Given the description of an element on the screen output the (x, y) to click on. 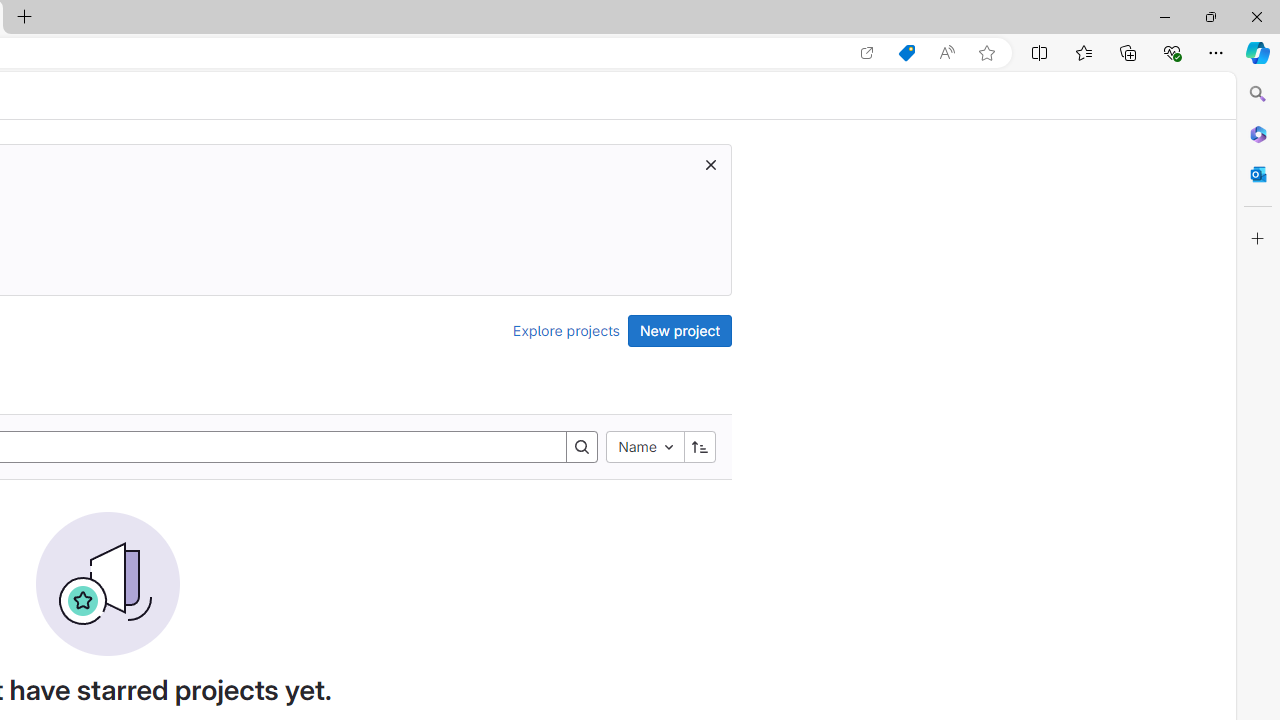
New project (680, 330)
Open in app (867, 53)
Sort direction: Ascending (699, 445)
Name (644, 445)
